Given the description of an element on the screen output the (x, y) to click on. 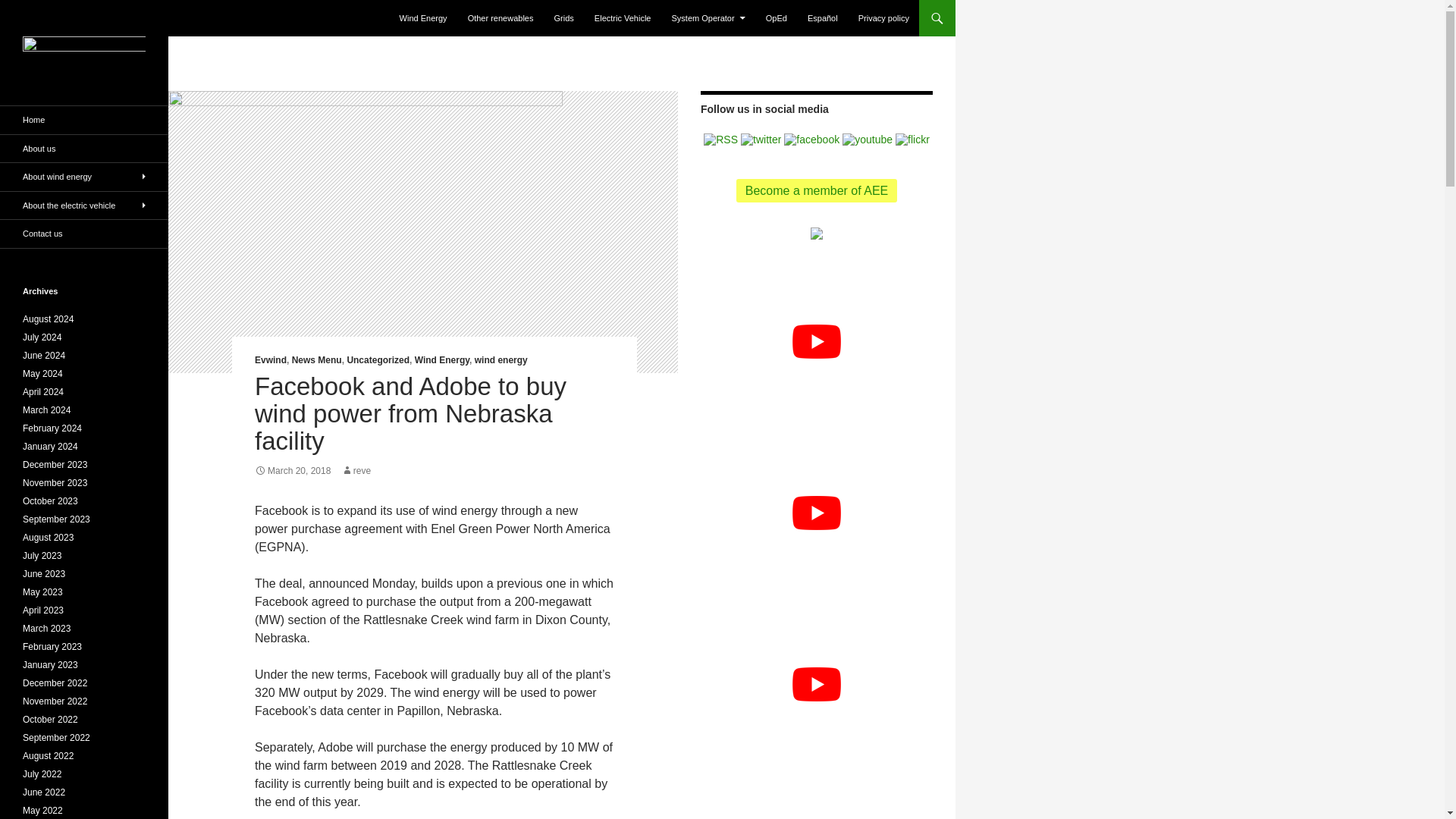
Grids (563, 18)
Uncategorized (377, 359)
RSS (720, 138)
March 20, 2018 (292, 470)
youtube (867, 139)
Wind Energy (441, 359)
twitter (761, 138)
Evwind (270, 359)
News Menu (317, 359)
twitter (760, 139)
